Given the description of an element on the screen output the (x, y) to click on. 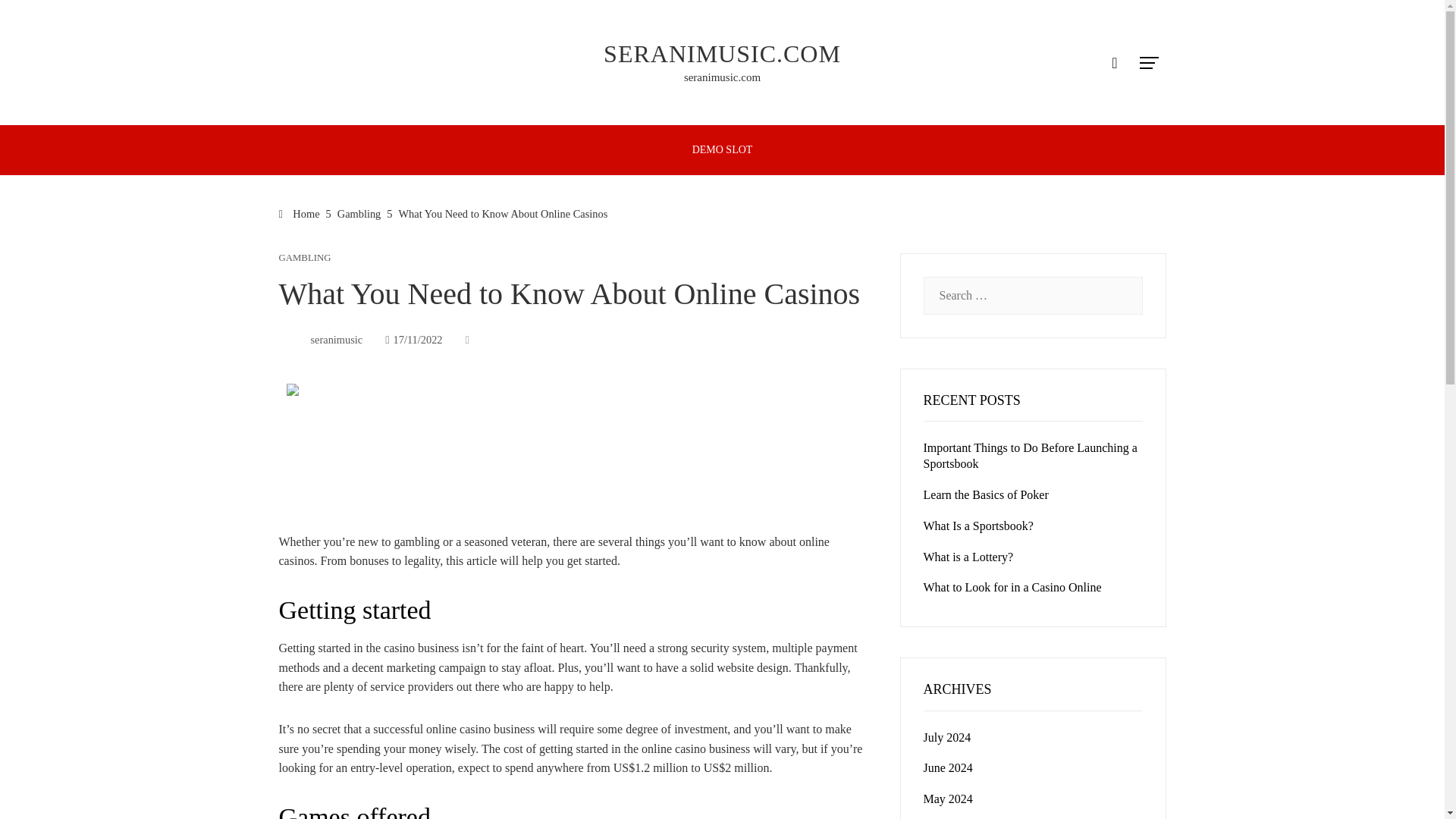
SERANIMUSIC.COM (722, 53)
What is a Lottery? (968, 556)
What Is a Sportsbook? (978, 525)
Home (299, 214)
May 2024 (947, 798)
seranimusic.com (722, 77)
Search (35, 18)
What to Look for in a Casino Online (1012, 586)
DEMO SLOT (722, 150)
June 2024 (947, 767)
Important Things to Do Before Launching a Sportsbook (1030, 455)
GAMBLING (305, 257)
Learn the Basics of Poker (985, 494)
Gambling (359, 214)
July 2024 (947, 737)
